Given the description of an element on the screen output the (x, y) to click on. 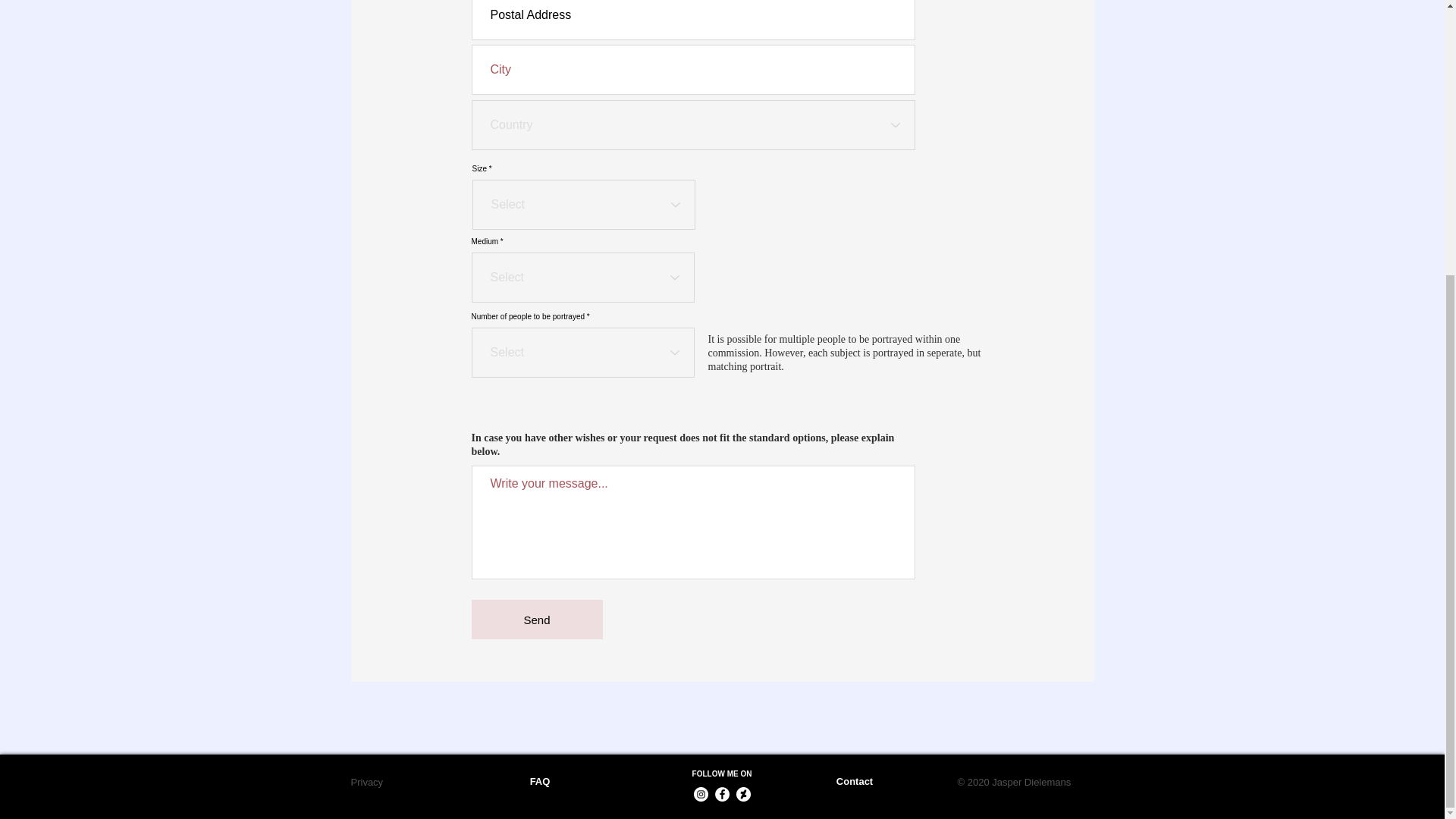
FAQ (539, 375)
FOLLOW ME ON (722, 367)
Privacy (366, 376)
Contact (853, 375)
Send (536, 619)
